Given the description of an element on the screen output the (x, y) to click on. 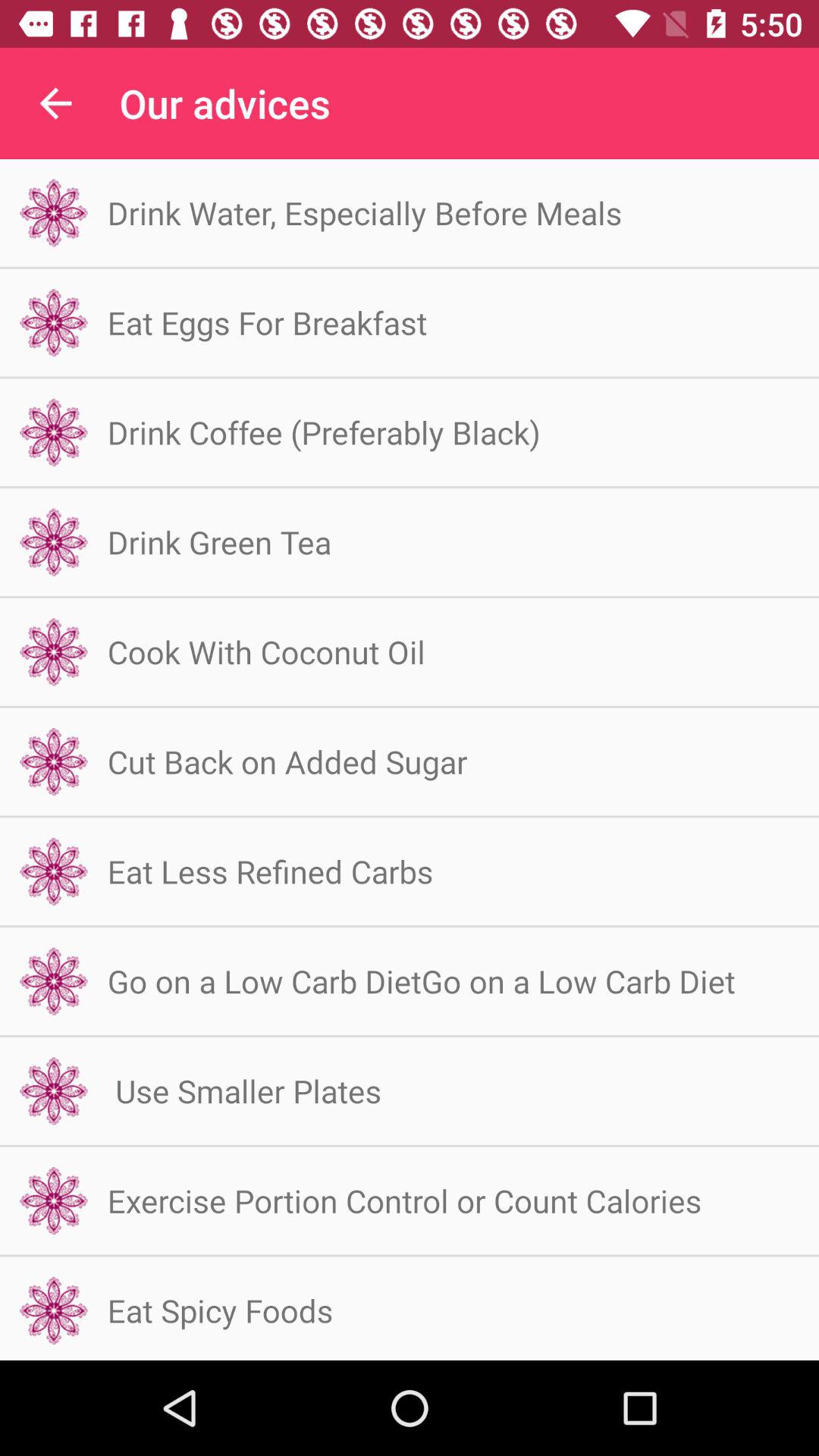
select the item above drink coffee preferably icon (267, 322)
